Given the description of an element on the screen output the (x, y) to click on. 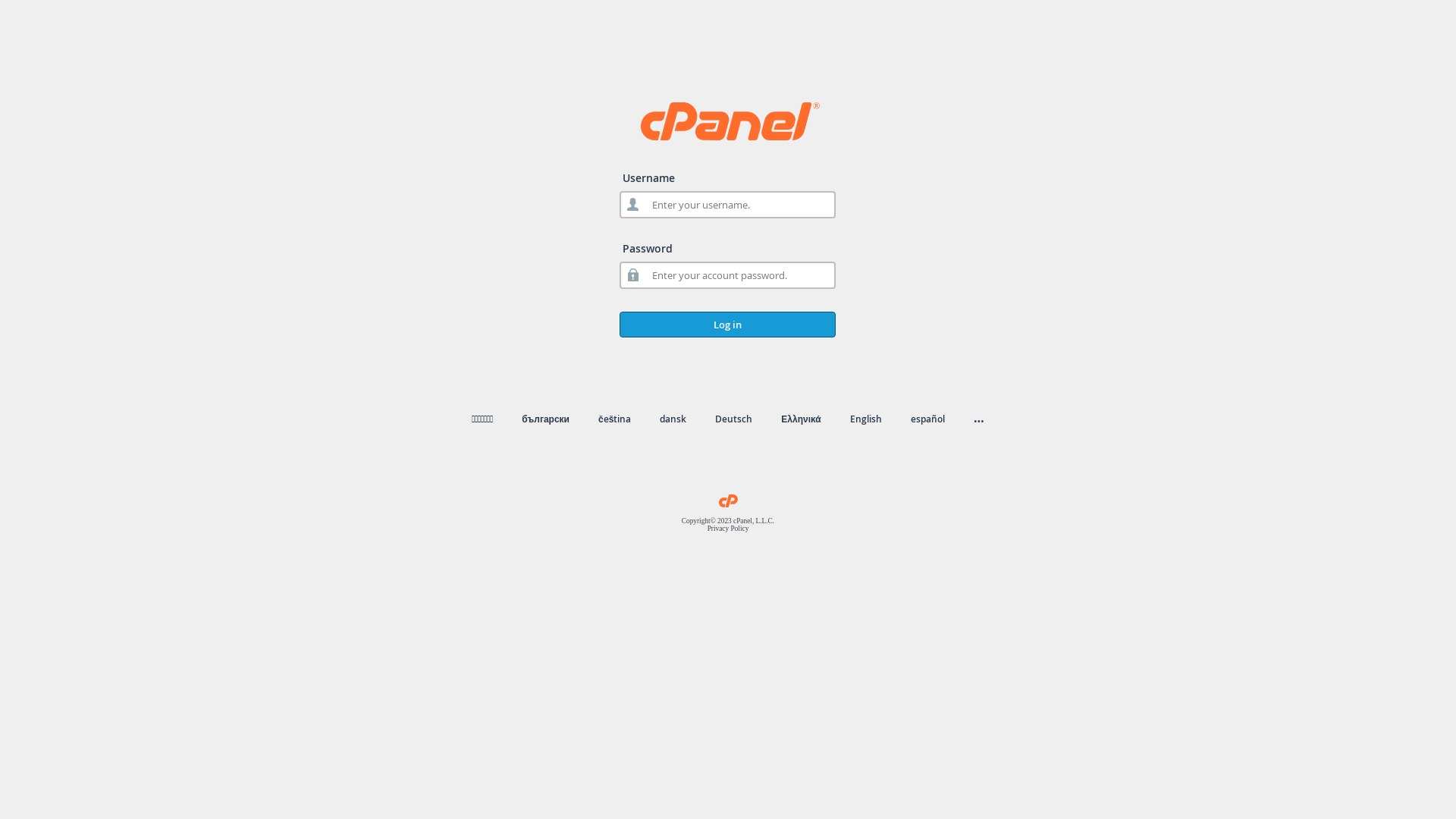
Log in Element type: text (727, 324)
dansk Element type: text (672, 418)
Deutsch Element type: text (733, 418)
English Element type: text (865, 418)
Privacy Policy Element type: text (728, 528)
